Given the description of an element on the screen output the (x, y) to click on. 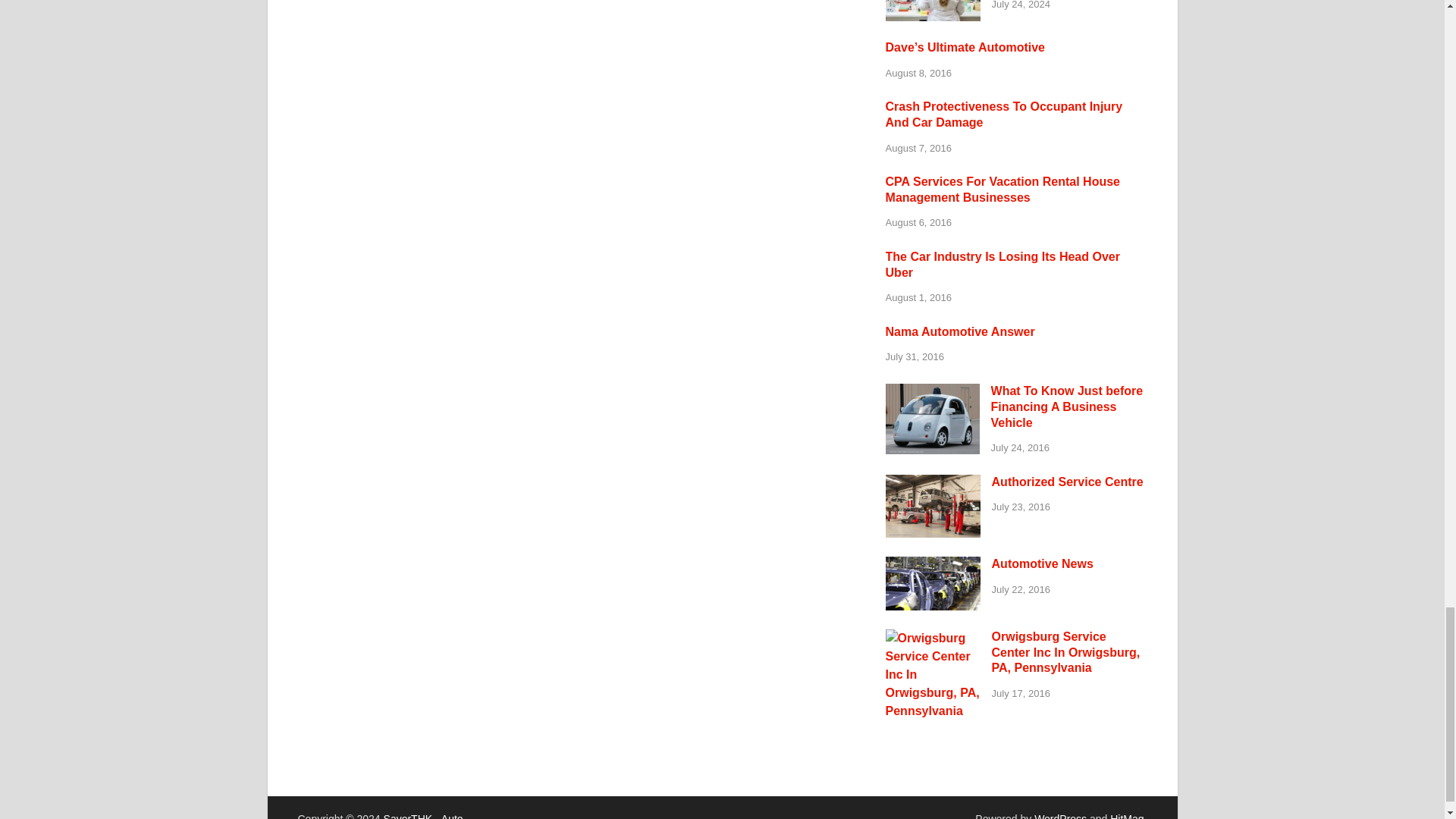
What To Know Just before Financing A Business Vehicle (932, 391)
Automotive News (932, 564)
Authorized Service Centre (932, 482)
